Given the description of an element on the screen output the (x, y) to click on. 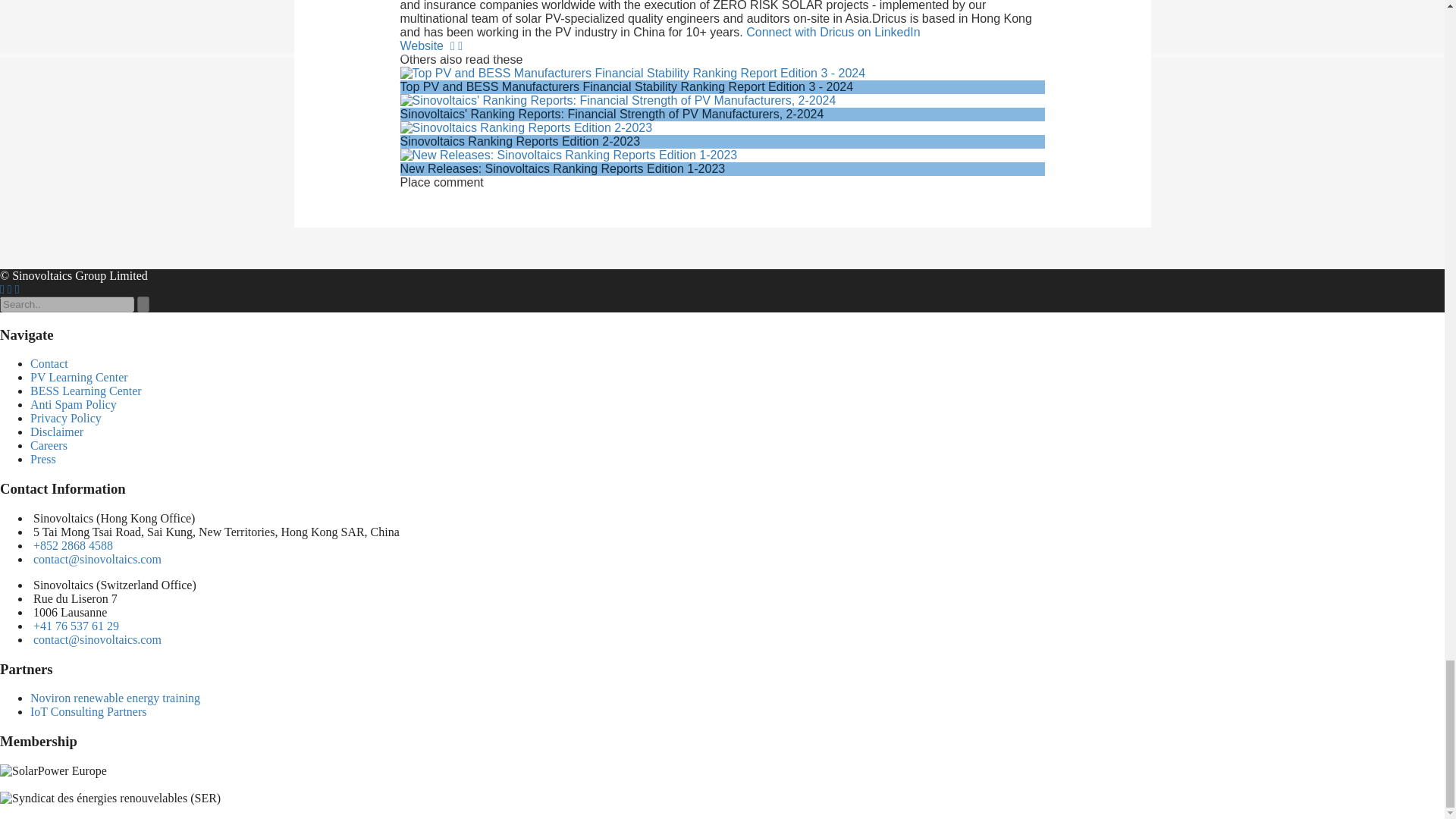
SolarPower Europe (53, 771)
